Given the description of an element on the screen output the (x, y) to click on. 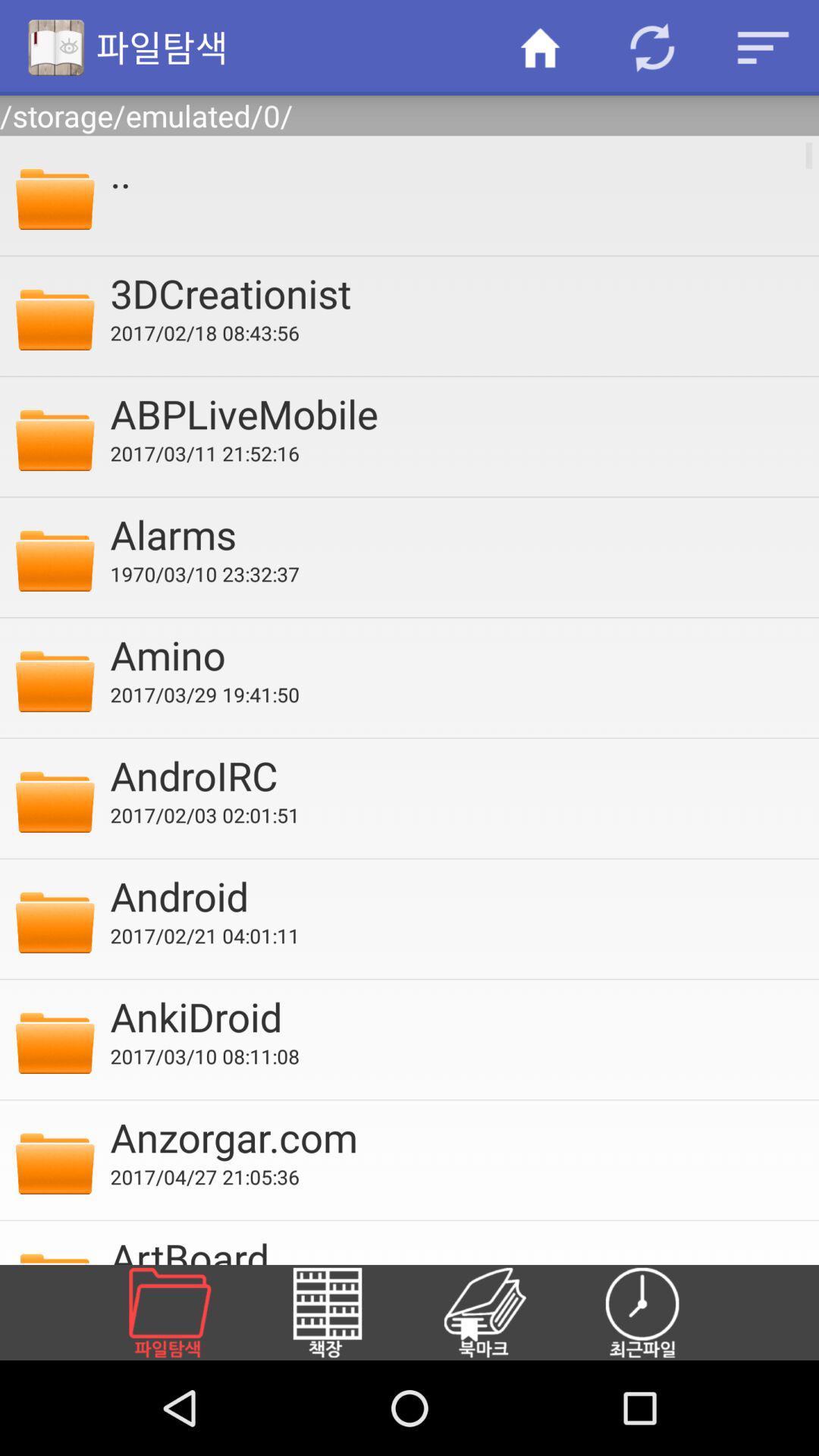
open another archive (187, 1312)
